Given the description of an element on the screen output the (x, y) to click on. 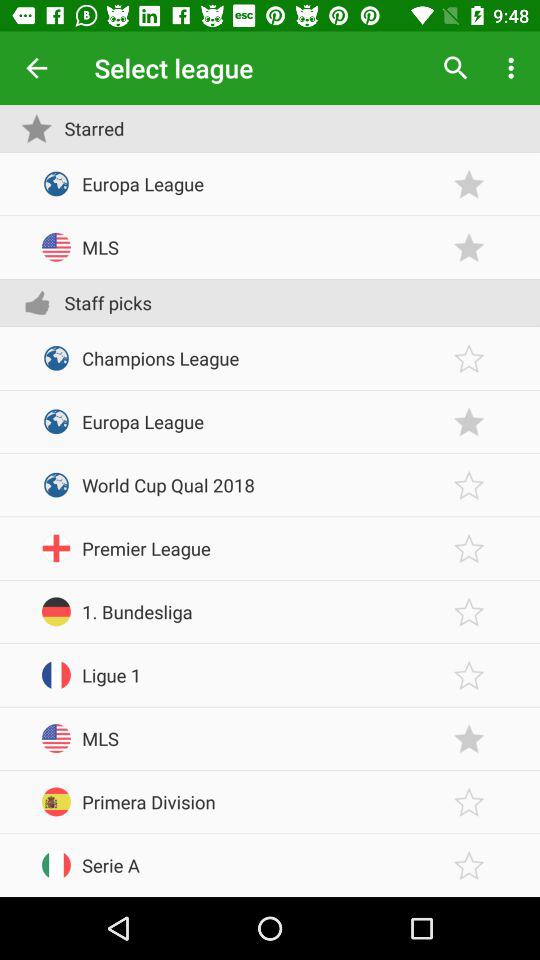
favorite the league (469, 421)
